Given the description of an element on the screen output the (x, y) to click on. 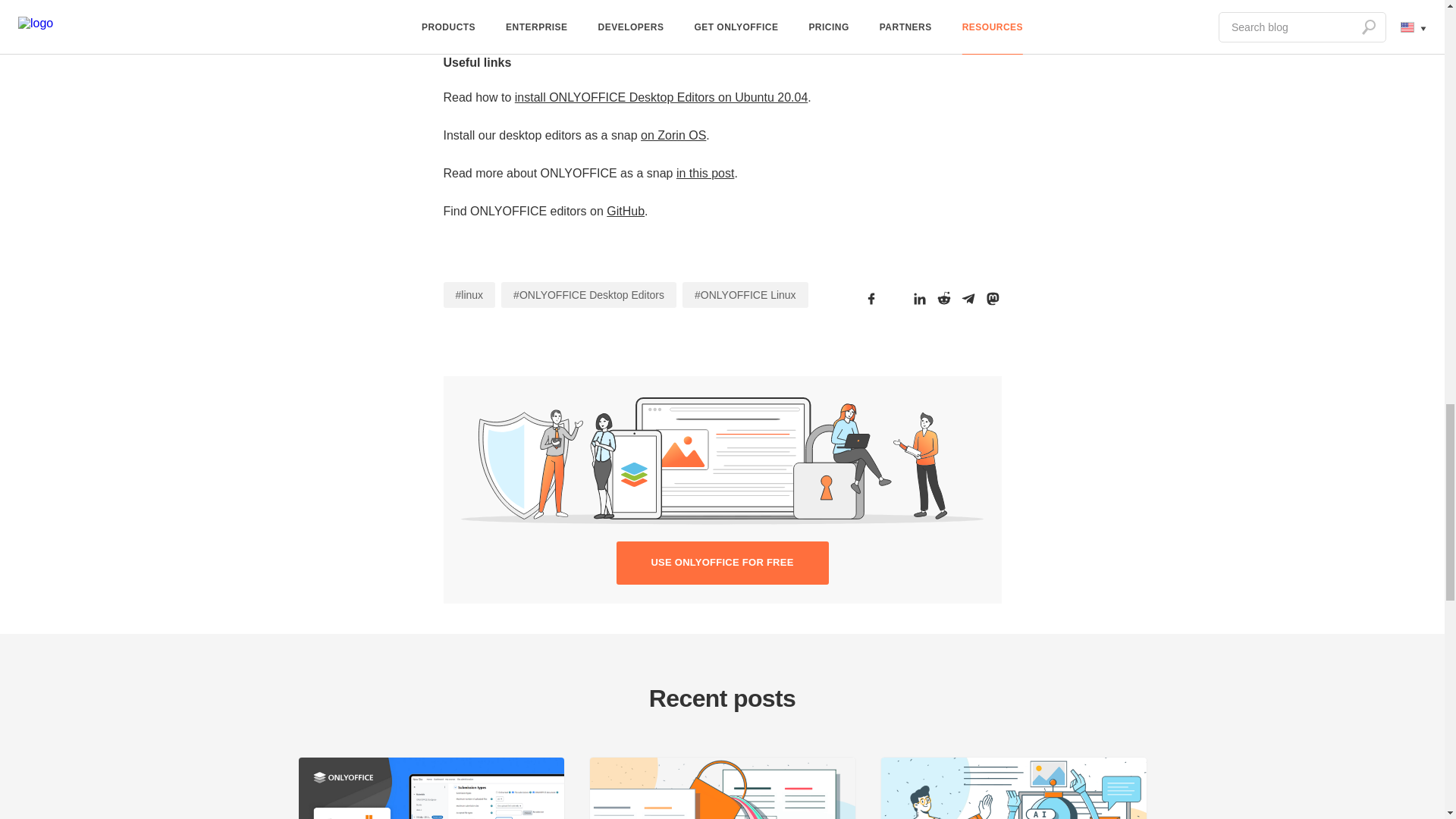
GitHub (626, 210)
Facebook (870, 298)
install ONLYOFFICE Desktop Editors on Ubuntu 20.04 (661, 97)
in this post (705, 173)
Mastodon (991, 298)
on Zorin OS (673, 134)
